Given the description of an element on the screen output the (x, y) to click on. 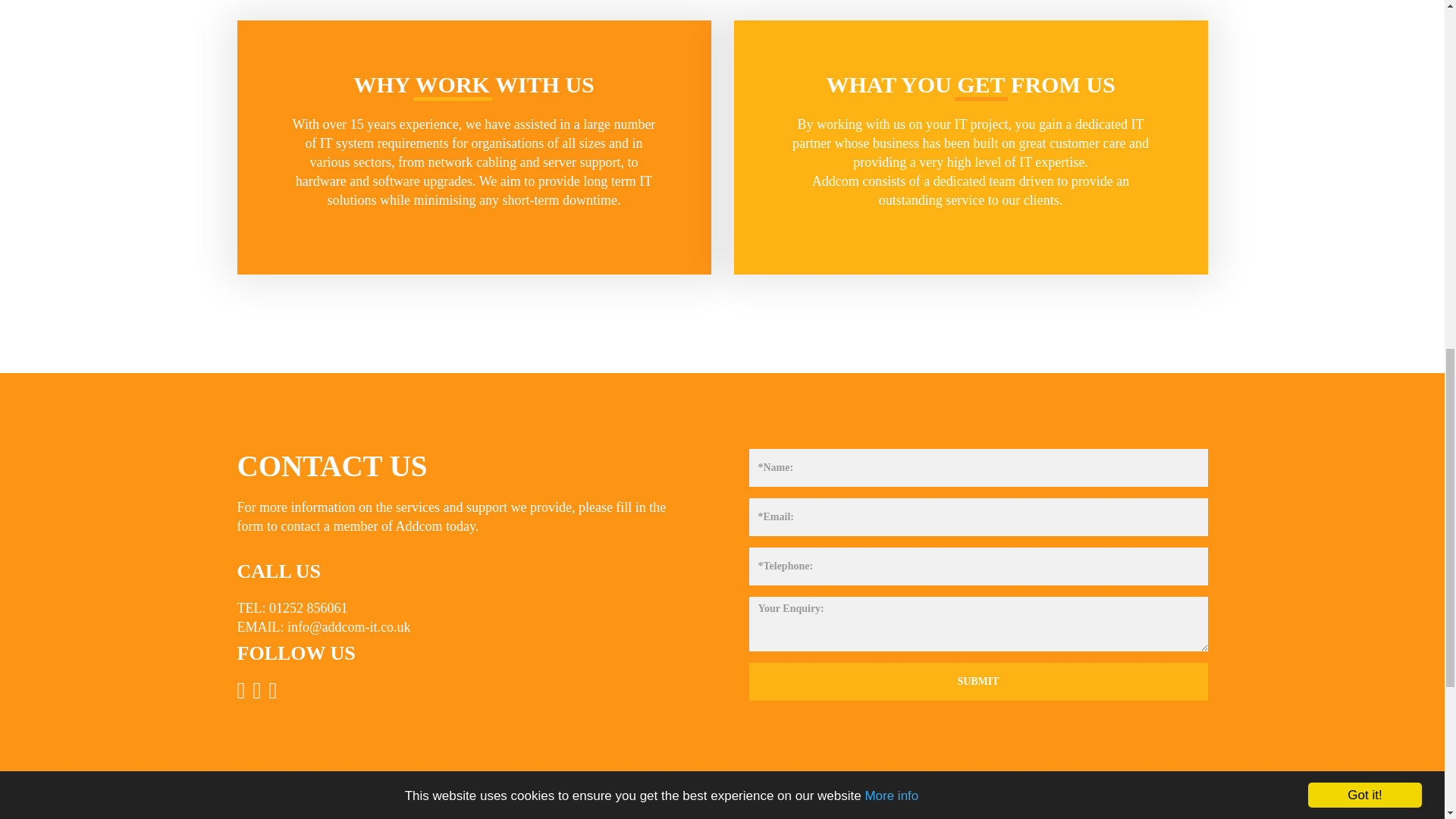
Submit (978, 681)
Server Support Services - Addcom (581, 161)
More info (891, 5)
Got it! (1364, 10)
Structured Cabling - Addcom (471, 161)
